Given the description of an element on the screen output the (x, y) to click on. 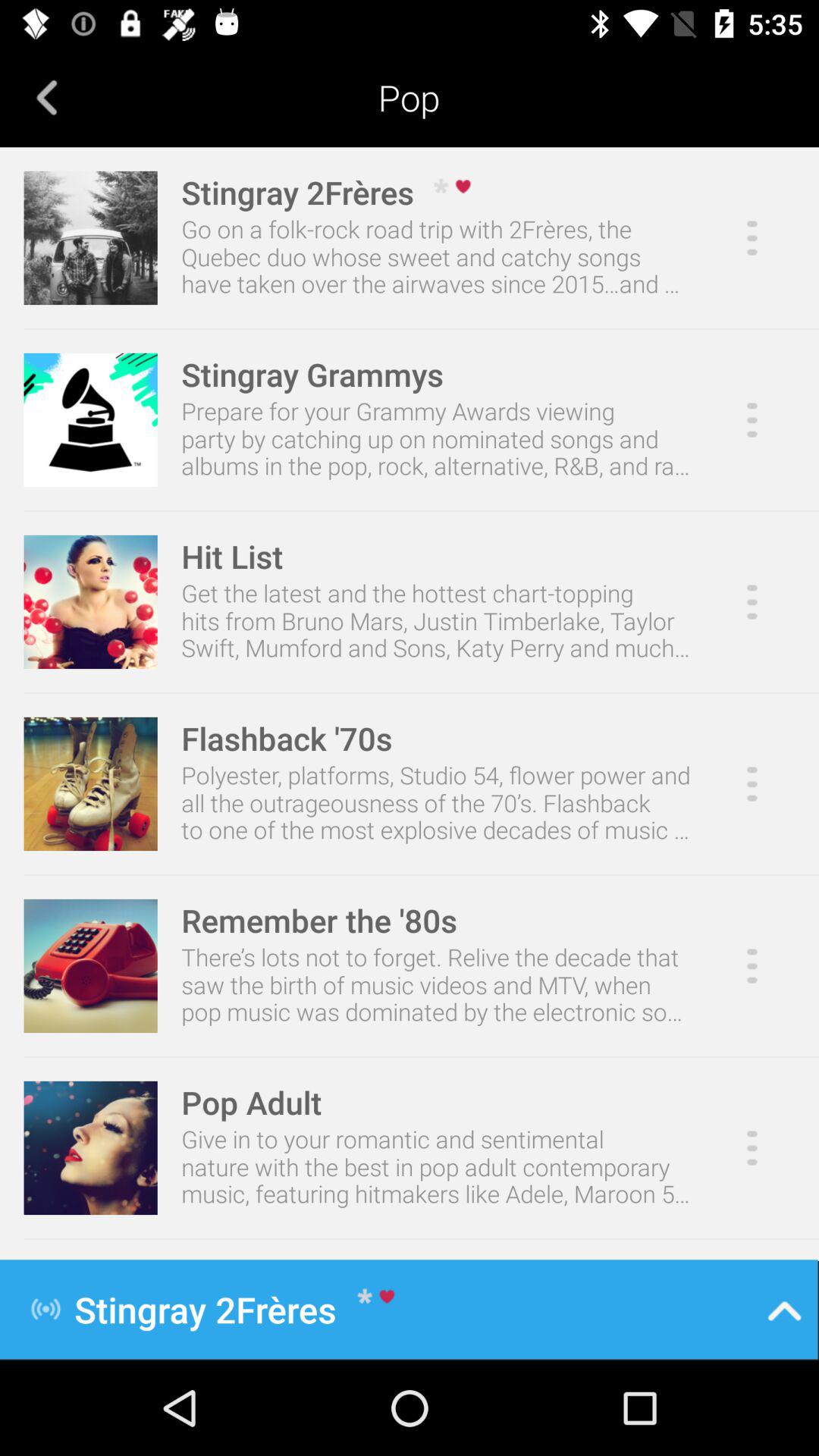
turn on the icon next to the pop (47, 97)
